Given the description of an element on the screen output the (x, y) to click on. 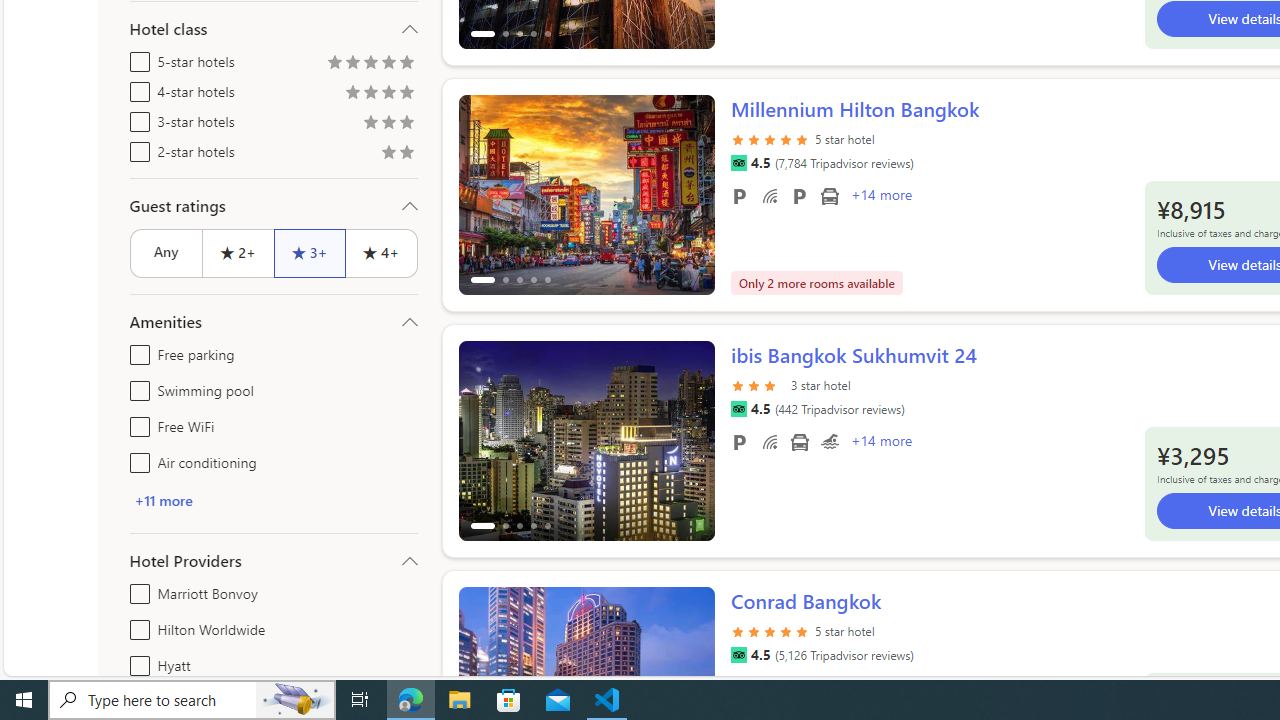
ScrollRight (690, 678)
+14 More Amenities (880, 443)
4+ (381, 252)
Valet parking (798, 196)
Tripadvisor (738, 655)
Guest ratings (273, 205)
Hyatt (136, 661)
Any (165, 252)
4-star hotels (136, 88)
+11 more (273, 500)
3+ (308, 252)
Hotel Providers (273, 560)
Free parking (738, 441)
Air conditioning (136, 458)
Rating (406, 154)
